Given the description of an element on the screen output the (x, y) to click on. 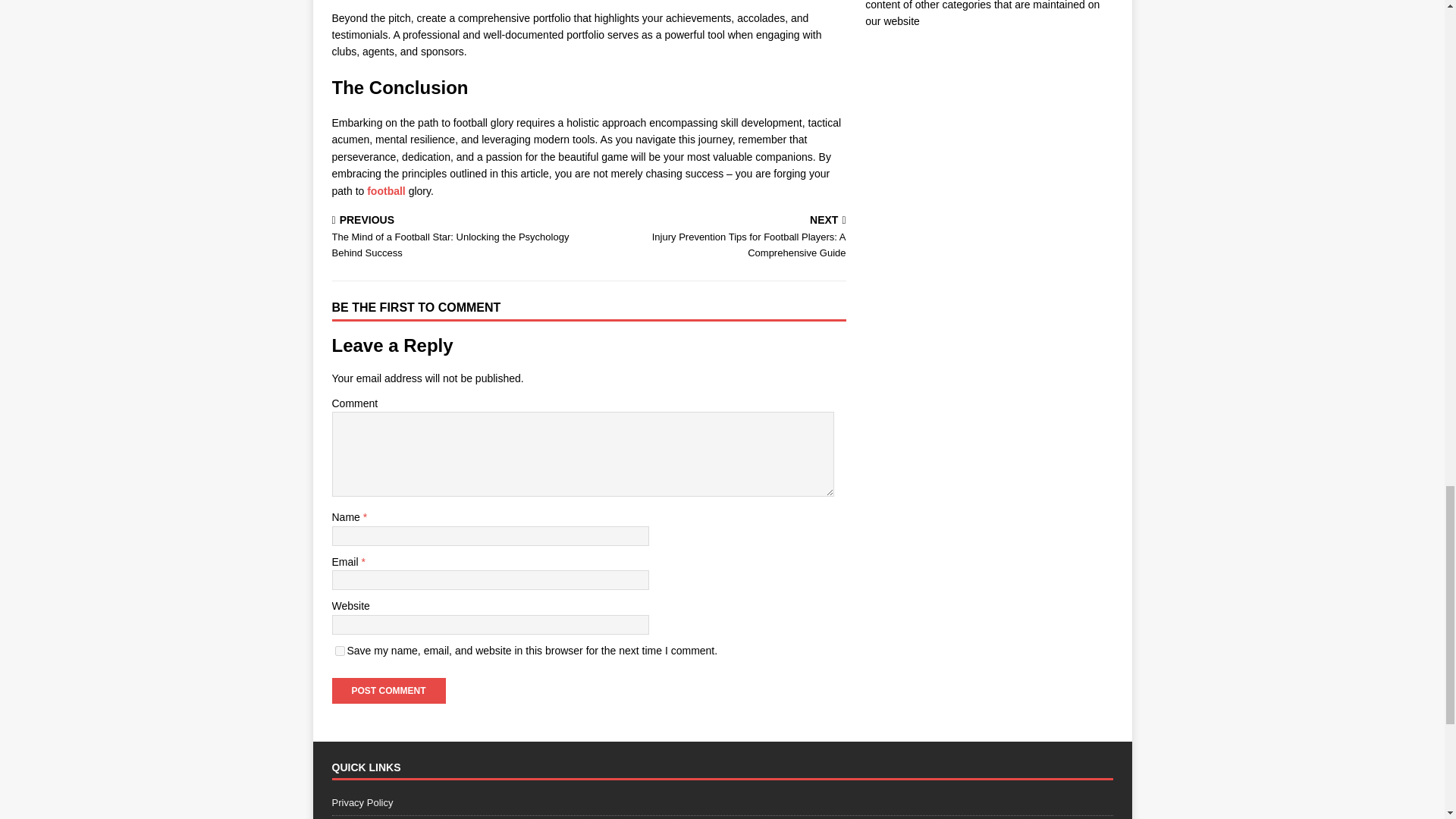
Post Comment (388, 690)
Post Comment (388, 690)
Privacy Policy (722, 804)
football (386, 191)
yes (339, 651)
